Given the description of an element on the screen output the (x, y) to click on. 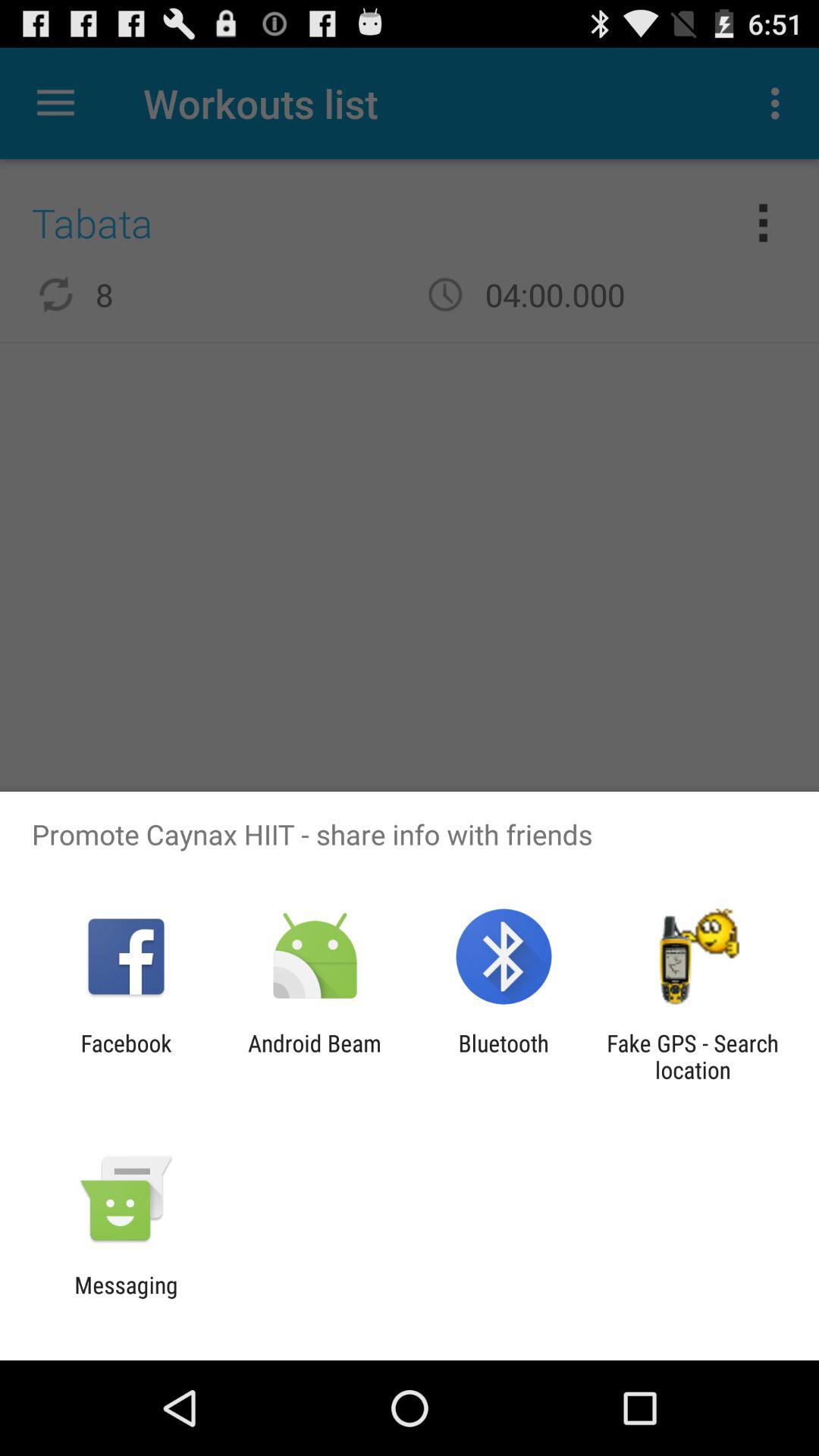
turn on android beam icon (314, 1056)
